Given the description of an element on the screen output the (x, y) to click on. 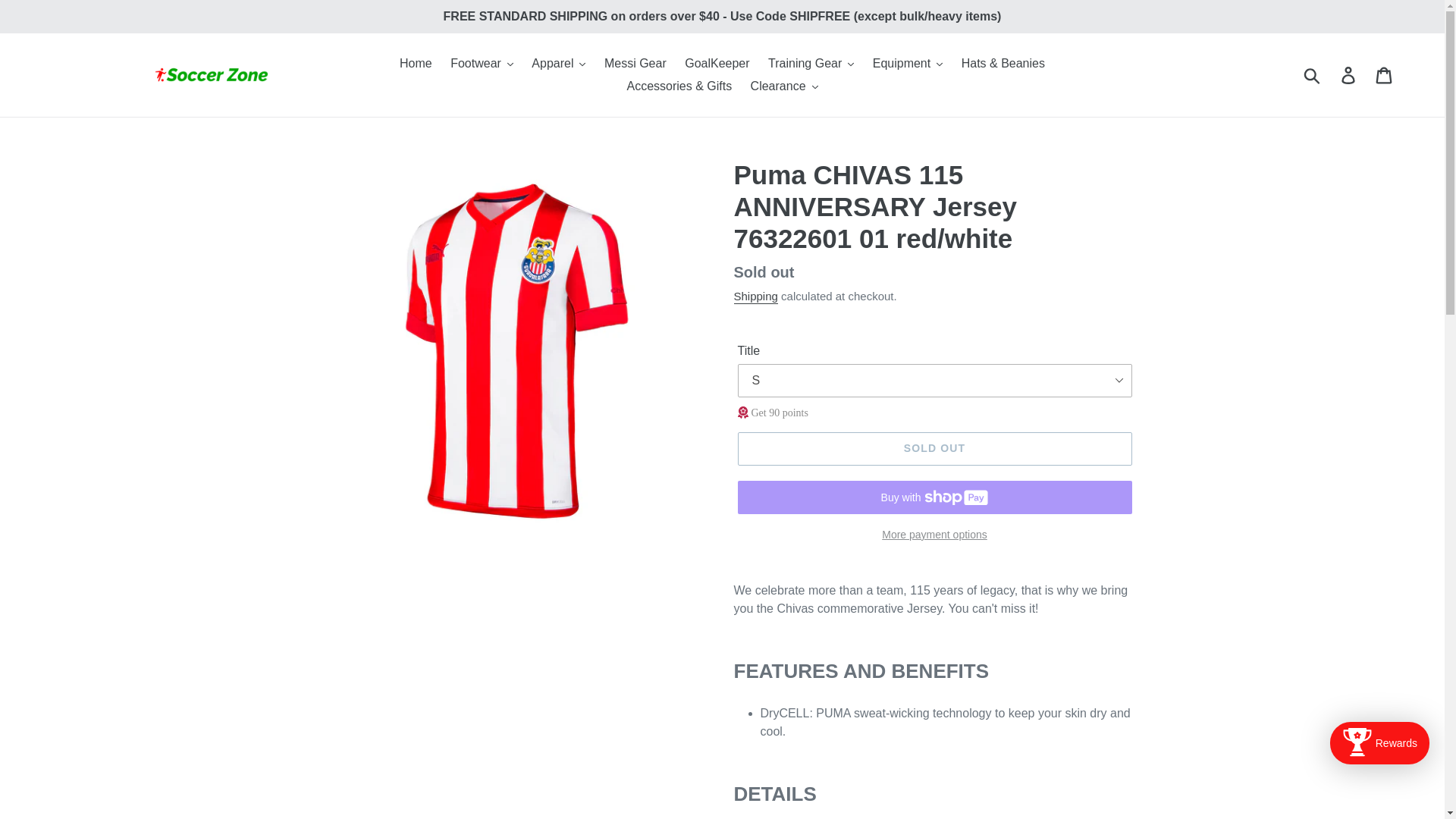
Submit (1313, 74)
Messi Gear (635, 63)
Cart (1385, 74)
GoalKeeper (717, 63)
Home (415, 63)
Log in (1349, 74)
